Given the description of an element on the screen output the (x, y) to click on. 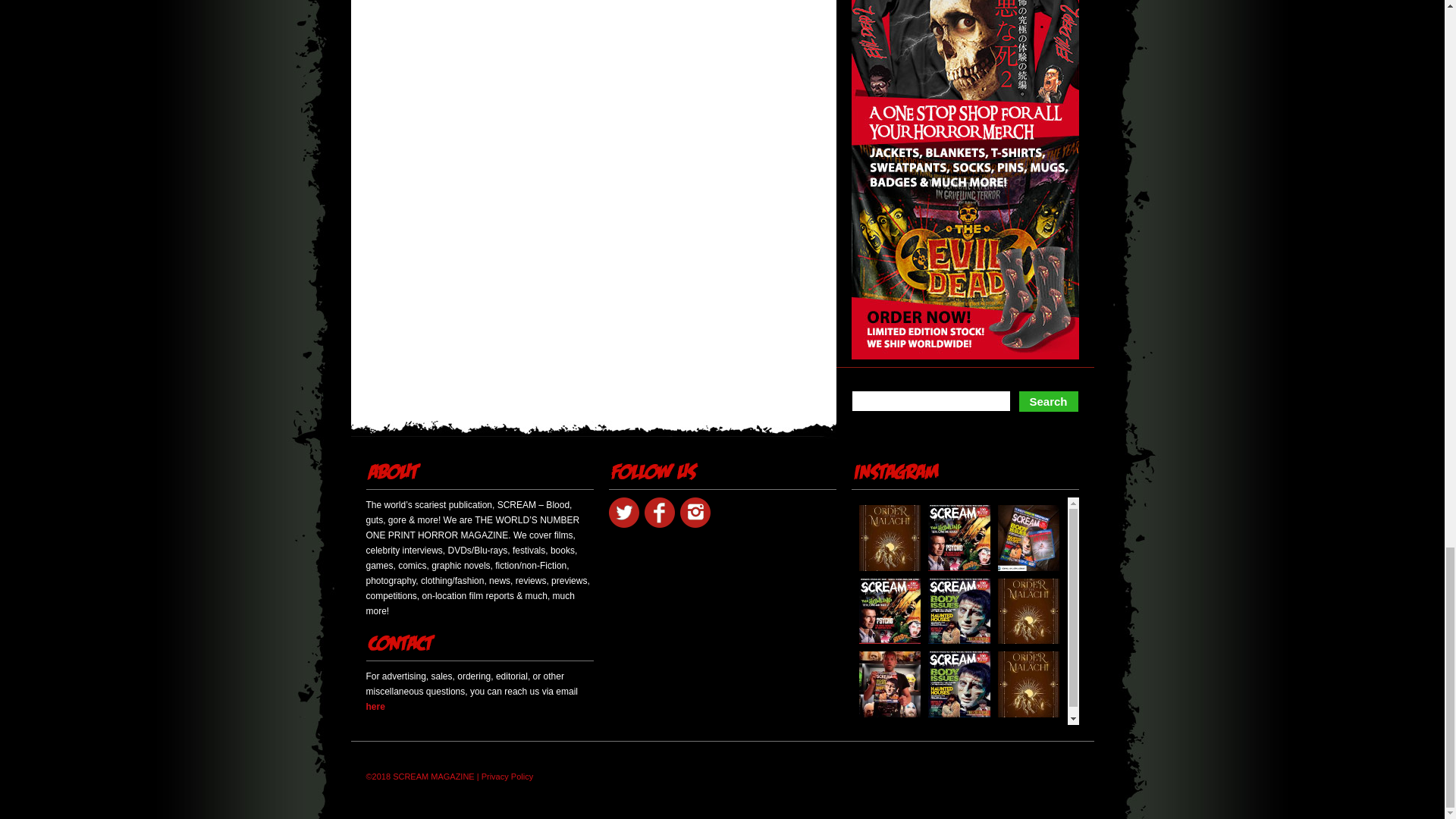
Privacy Policy (506, 776)
Search (1047, 401)
here (374, 706)
Search (1047, 401)
